Given the description of an element on the screen output the (x, y) to click on. 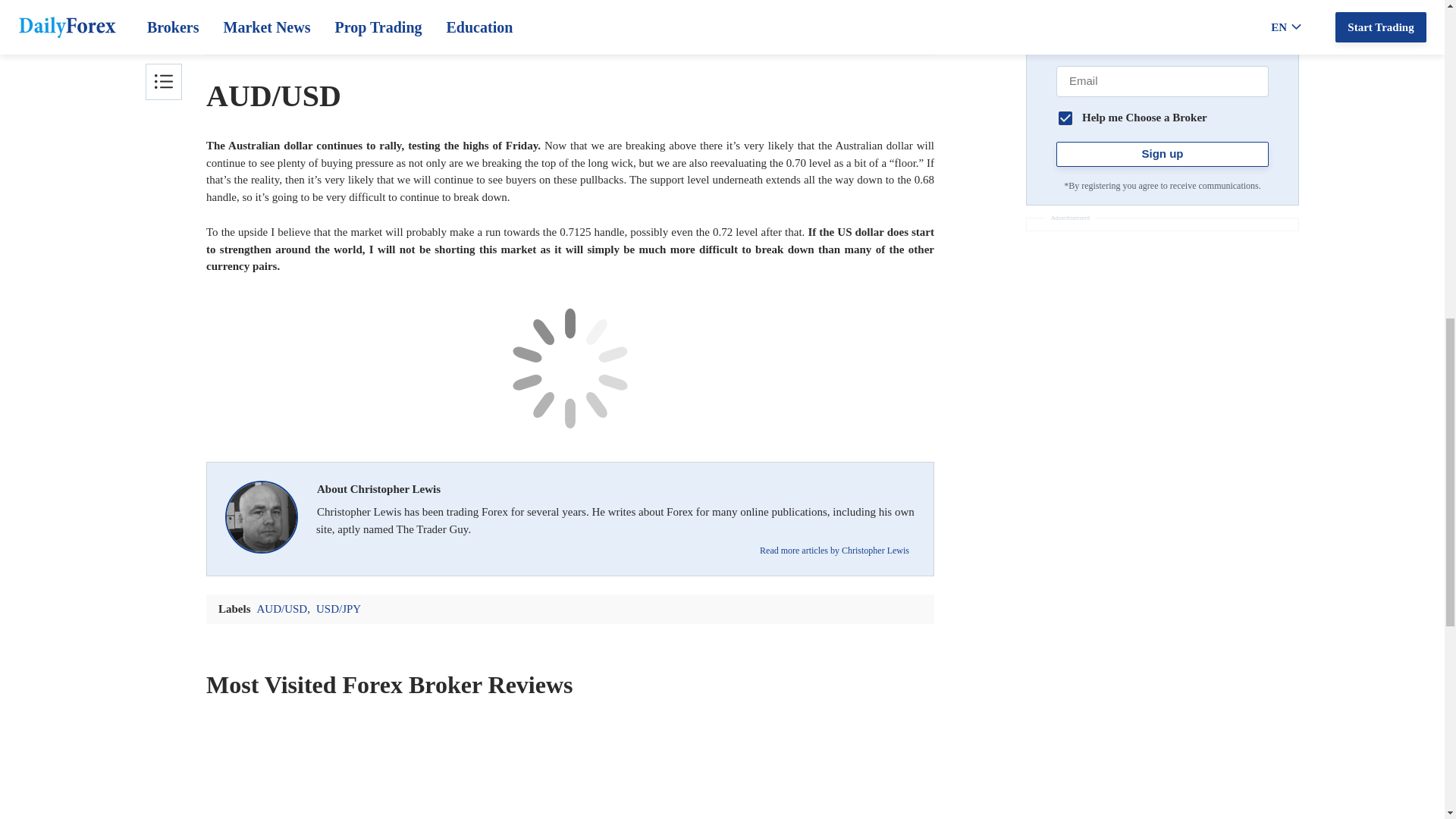
usdjpy (570, 27)
Christopher Lewis (261, 518)
audusd (570, 368)
